Given the description of an element on the screen output the (x, y) to click on. 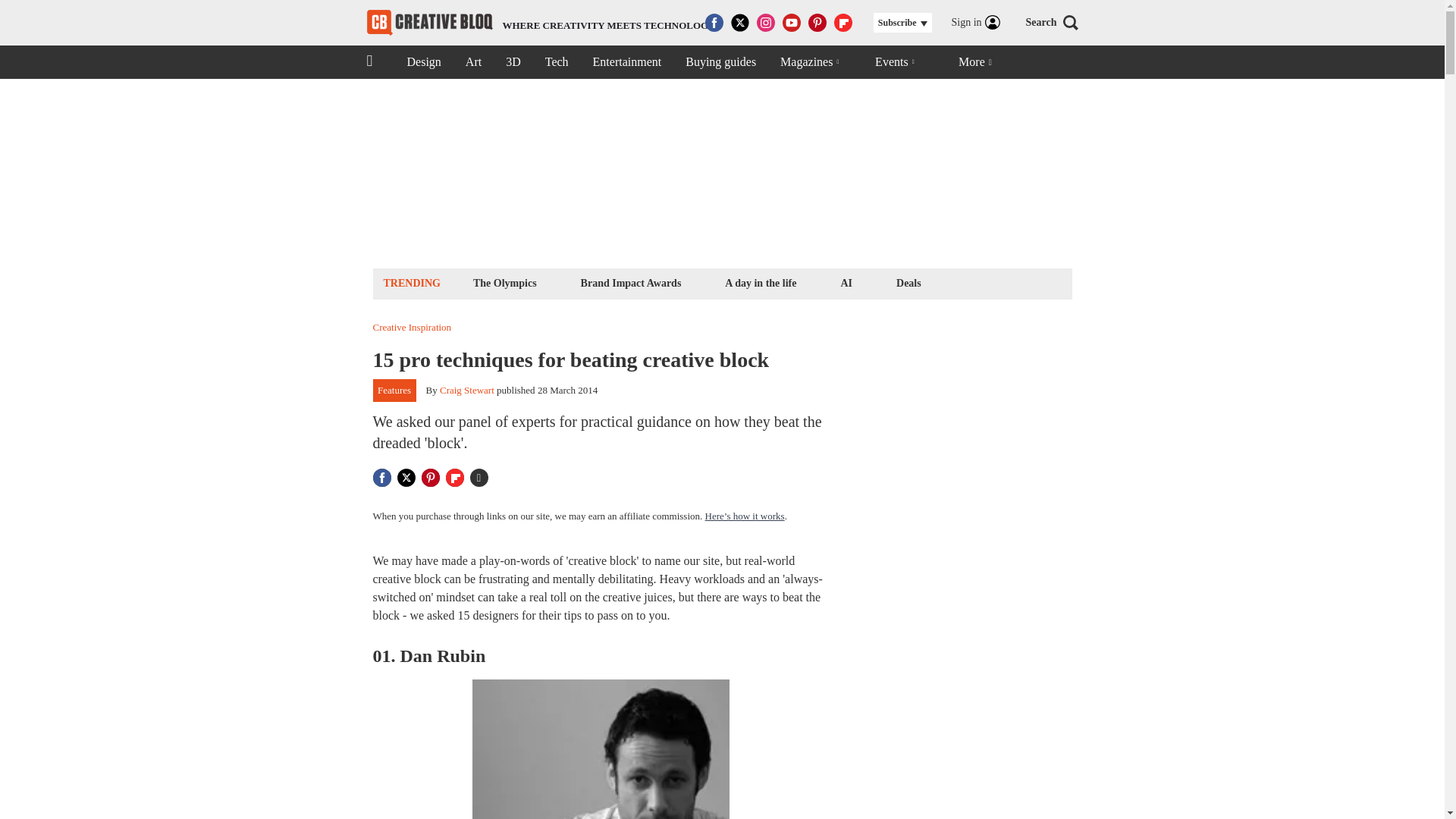
Creative Bloq (541, 22)
Art (429, 22)
Craig Stewart (472, 61)
The Olympics (467, 389)
Deals (504, 282)
A day in the life (908, 282)
Entertainment (760, 282)
AI (627, 61)
Buying guides (845, 282)
